Given the description of an element on the screen output the (x, y) to click on. 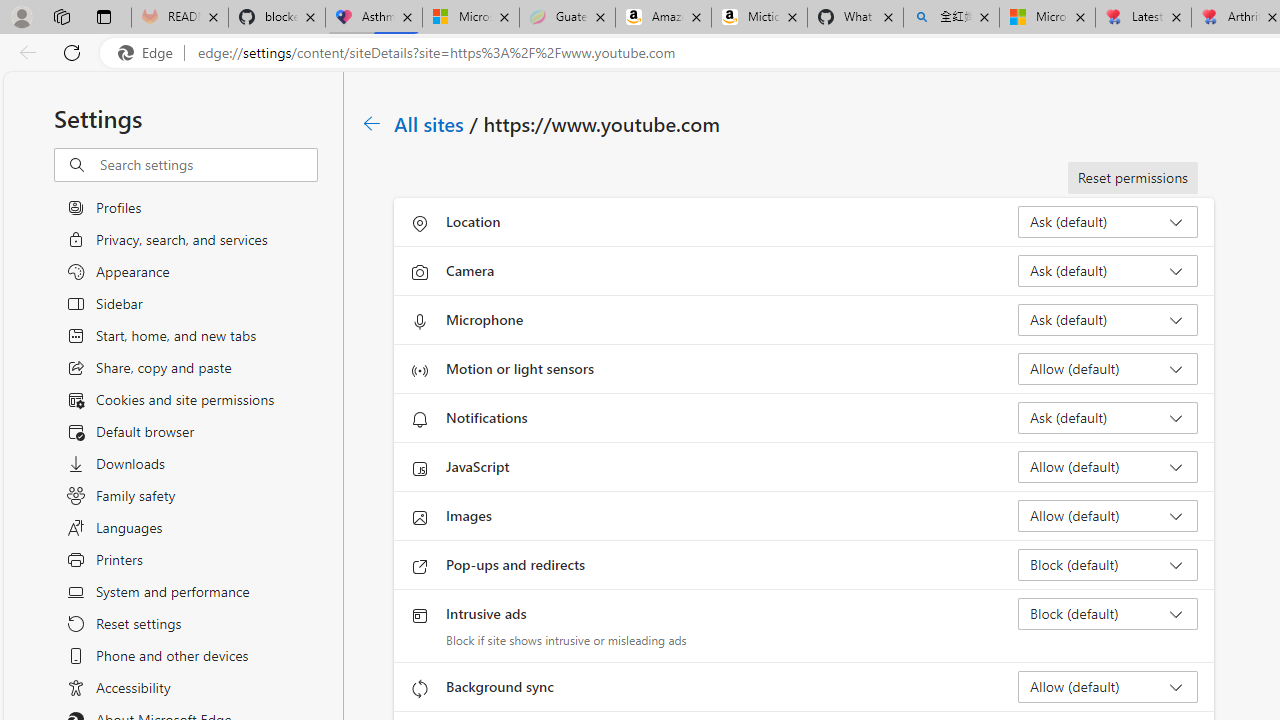
Location Ask (default) (1107, 221)
